Given the description of an element on the screen output the (x, y) to click on. 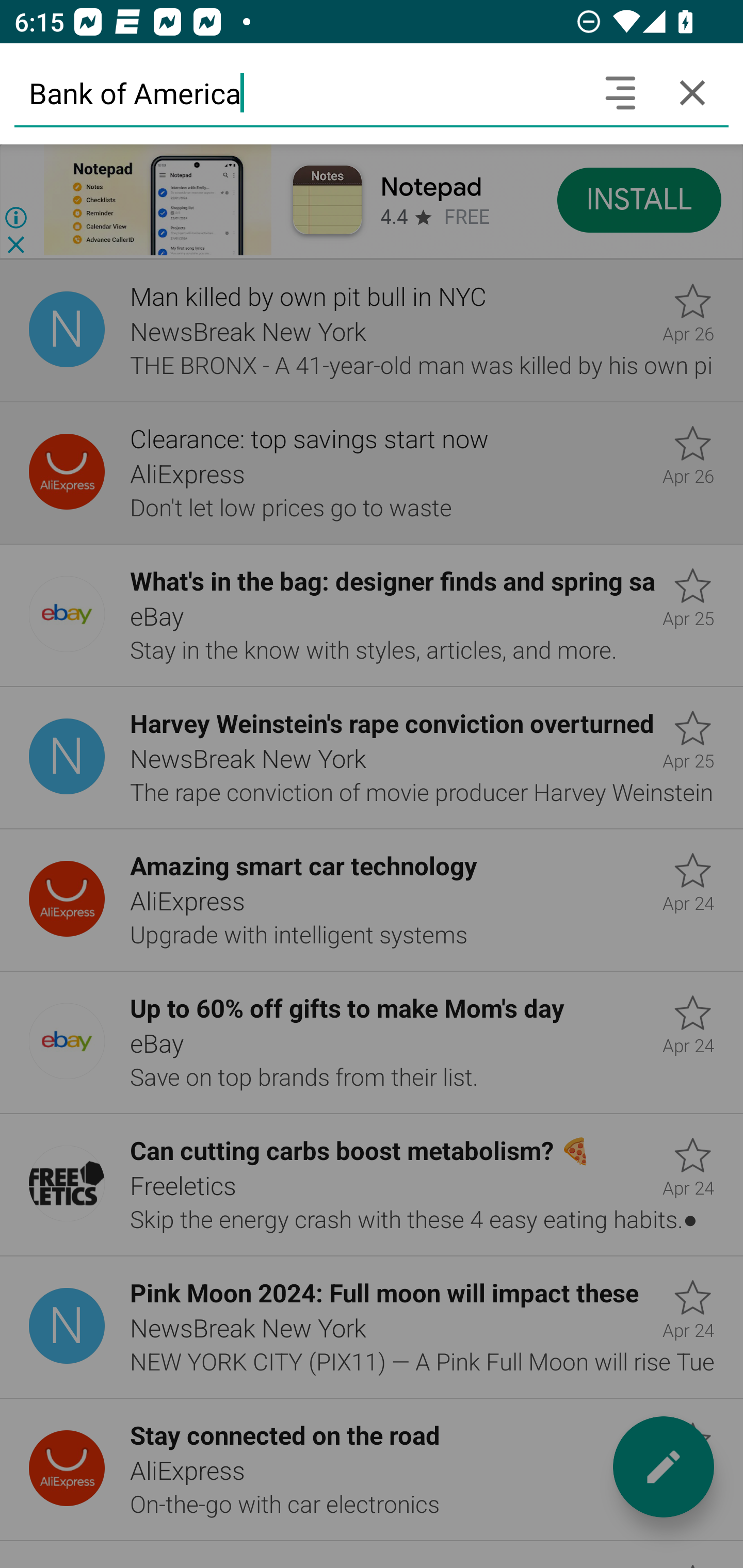
Bank of America (298, 92)
Search headers and text (619, 92)
Cancel (692, 92)
